Given the description of an element on the screen output the (x, y) to click on. 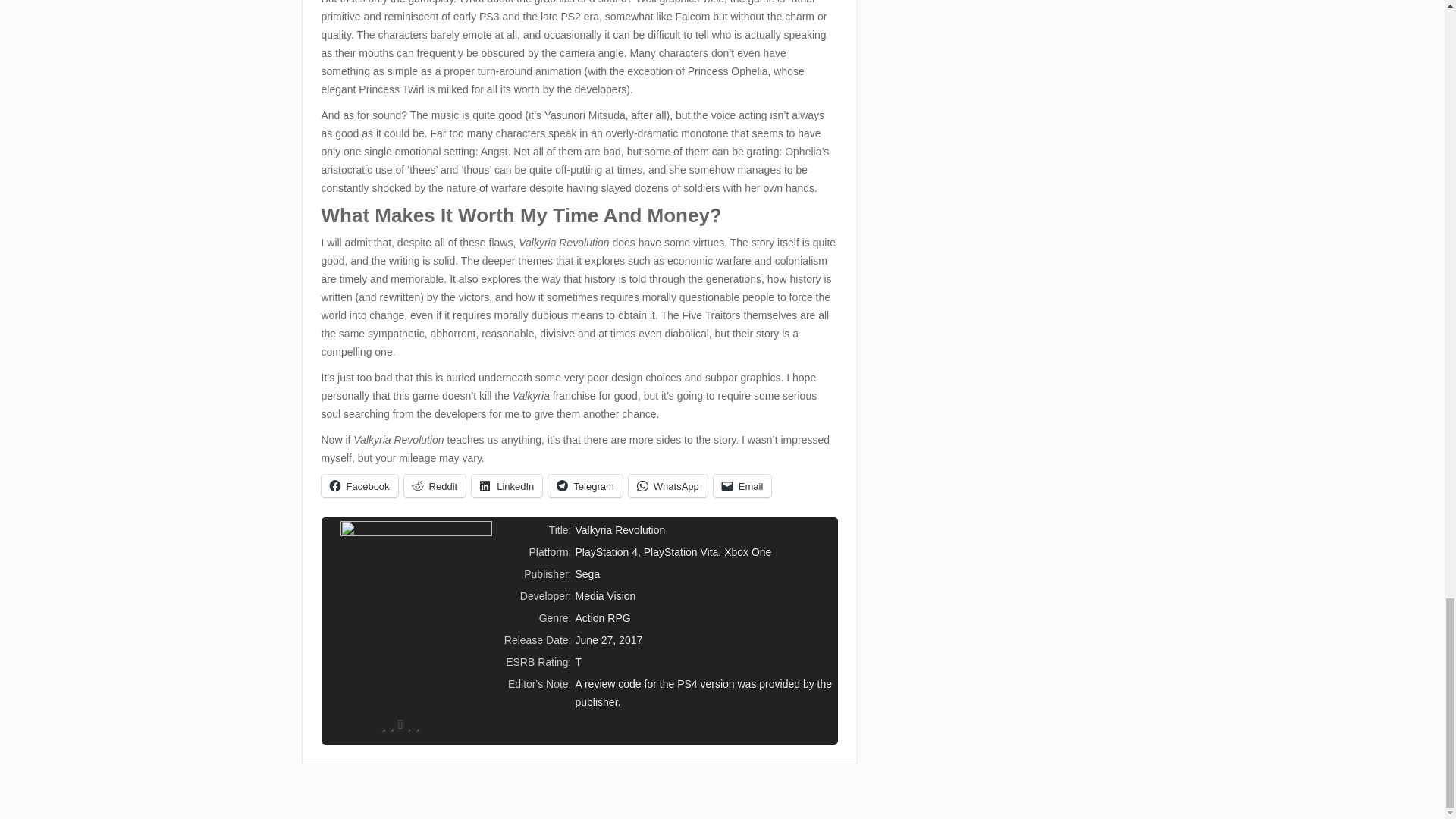
LinkedIn (506, 486)
Click to share on Facebook (359, 486)
WhatsApp (667, 486)
Telegram (584, 486)
Click to share on Reddit (434, 486)
Facebook (359, 486)
Click to share on LinkedIn (506, 486)
Reddit (434, 486)
Click to share on WhatsApp (667, 486)
Click to share on Telegram (584, 486)
